Given the description of an element on the screen output the (x, y) to click on. 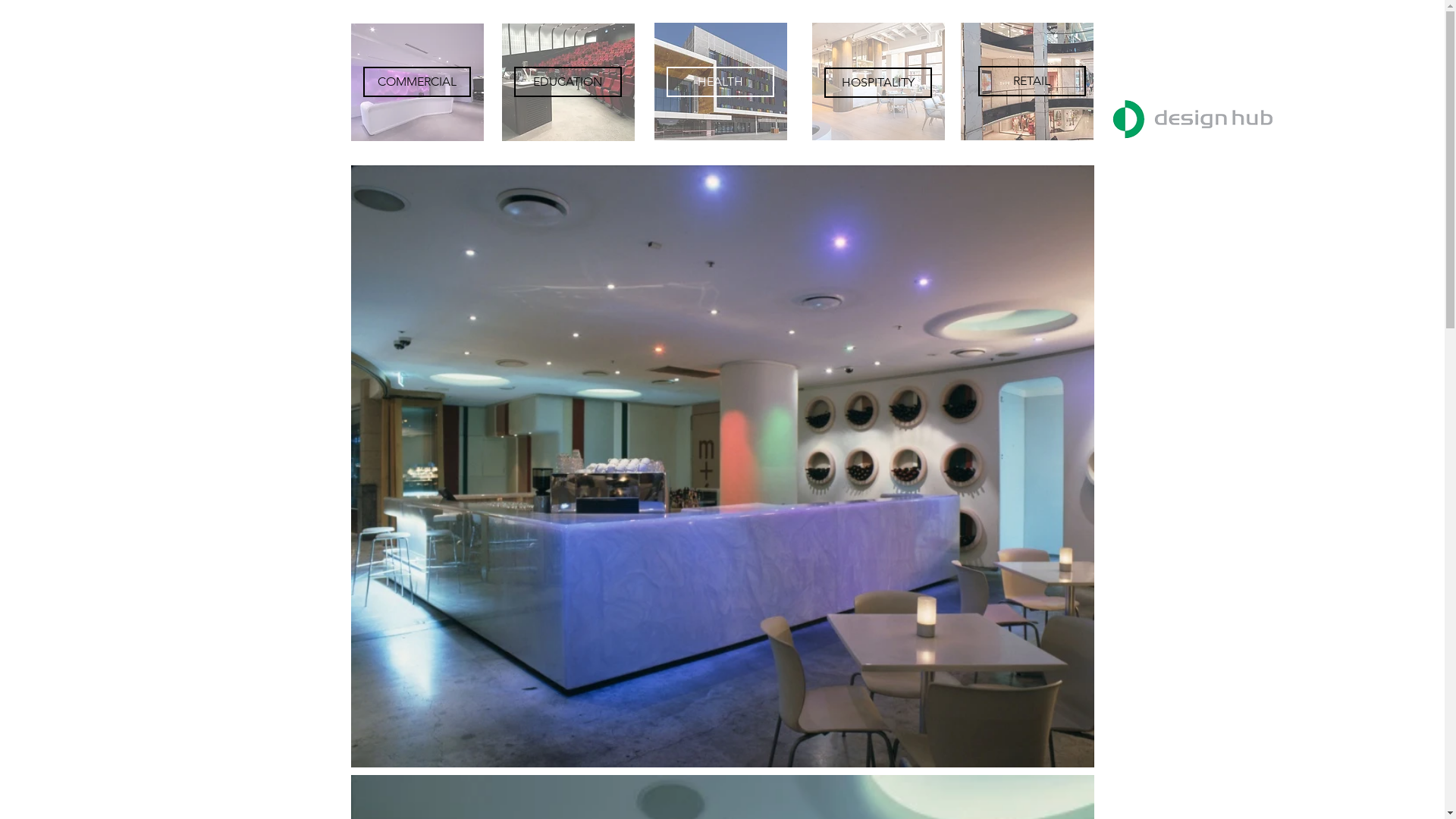
HEALTH Element type: text (719, 81)
HOSPITALITY Element type: text (877, 82)
EDUCATION Element type: text (567, 81)
COMMERCIAL Element type: text (416, 81)
RETAIL Element type: text (1031, 80)
